Given the description of an element on the screen output the (x, y) to click on. 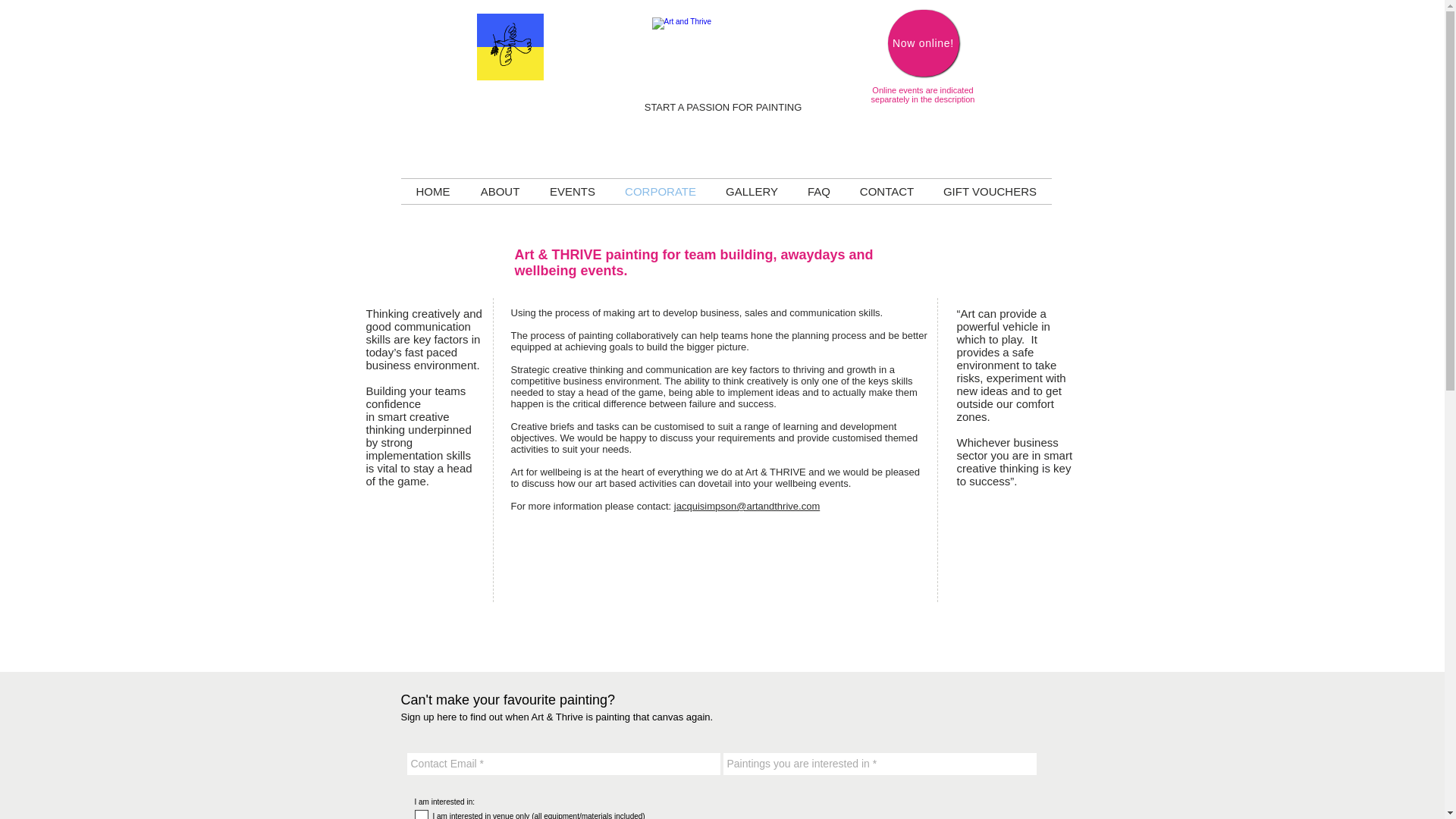
GALLERY (752, 191)
START A PASSION FOR PAINTING (723, 107)
HOME (432, 191)
CONTACT (886, 191)
CORPORATE (660, 191)
GIFT VOUCHERS (989, 191)
Can't make your favourite painting? (507, 699)
EVENTS (572, 191)
ABOUT (500, 191)
Now online! (922, 42)
